Given the description of an element on the screen output the (x, y) to click on. 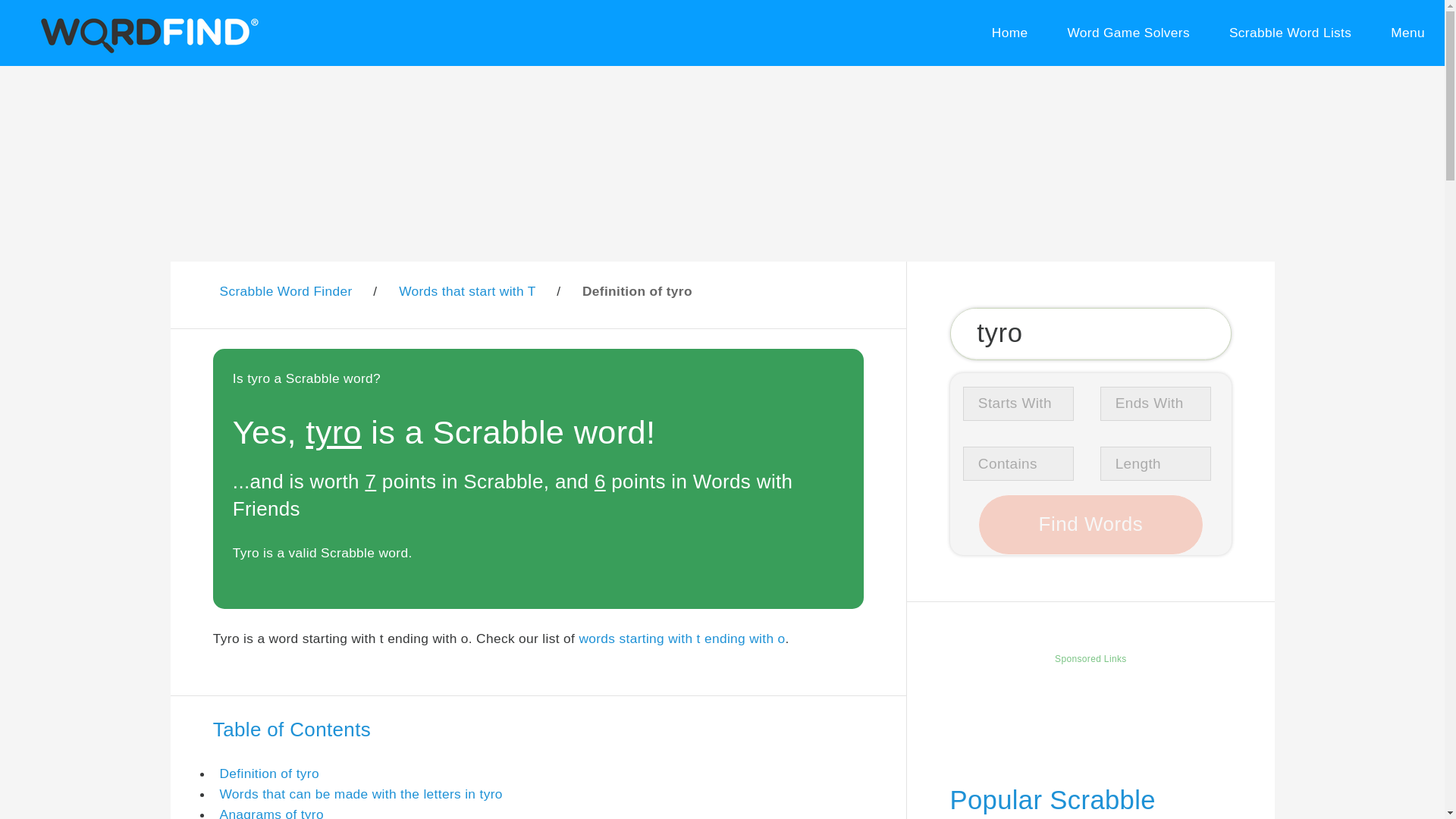
Scrabble Word Lists menu (1290, 33)
Definition of tyro (268, 773)
Return Home (1009, 33)
tyro (1090, 333)
Find Words (1091, 525)
Home (1009, 33)
Word Game Solvers (1128, 33)
Words that can be made with the letters in tyro (360, 793)
Word Game Solvers menu (1128, 33)
words starting with t ending with o (681, 638)
Anagrams of tyro (271, 812)
Words that start with T (466, 290)
Return Home to Wordfind.com (146, 50)
wordfind.com logo (146, 32)
Scrabble Word Lists (1290, 33)
